Given the description of an element on the screen output the (x, y) to click on. 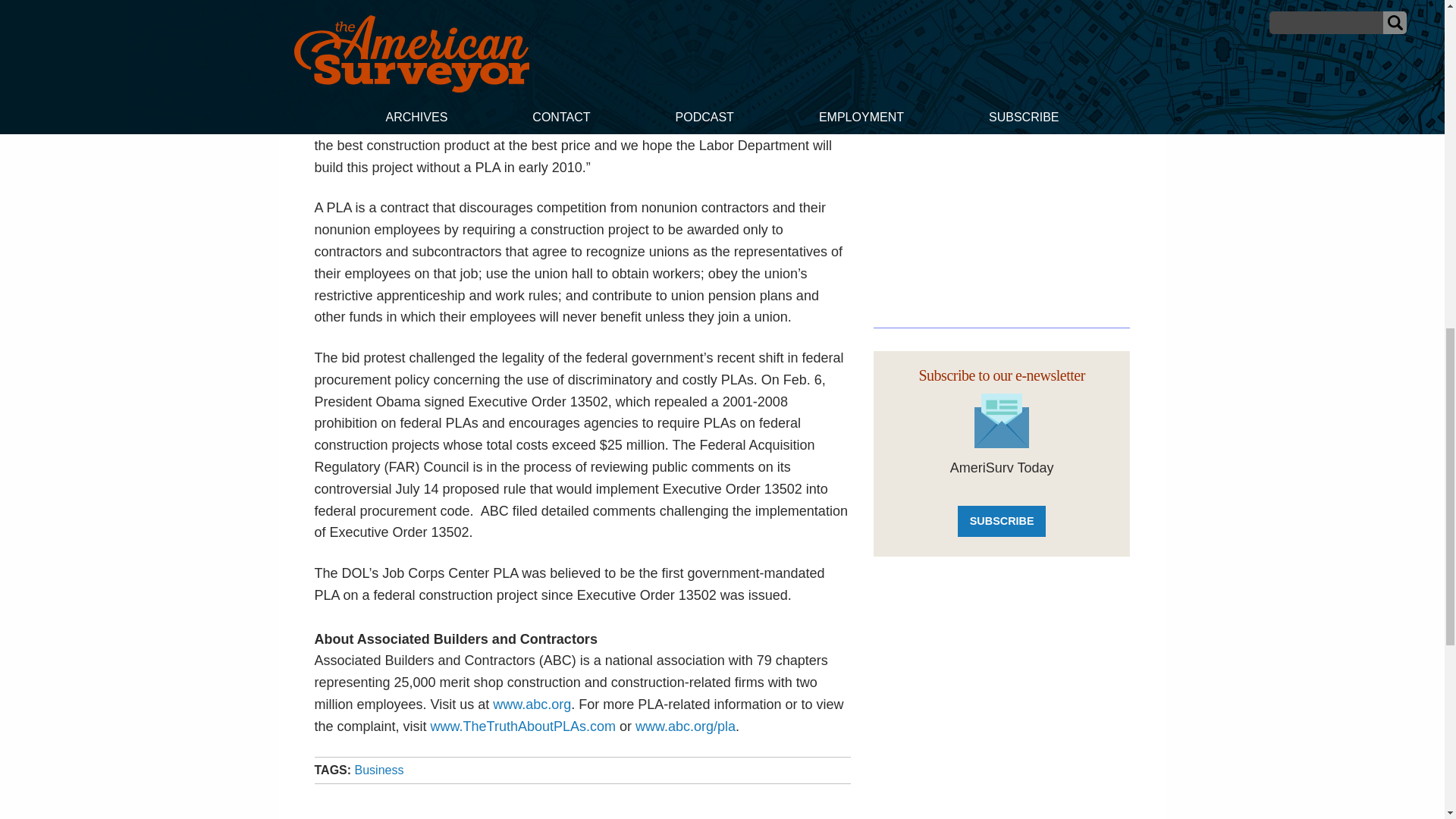
SUBSCRIBE (1001, 521)
www.TheTruthAboutPLAs.com (522, 726)
www.abc.org (531, 703)
Business (379, 769)
